Given the description of an element on the screen output the (x, y) to click on. 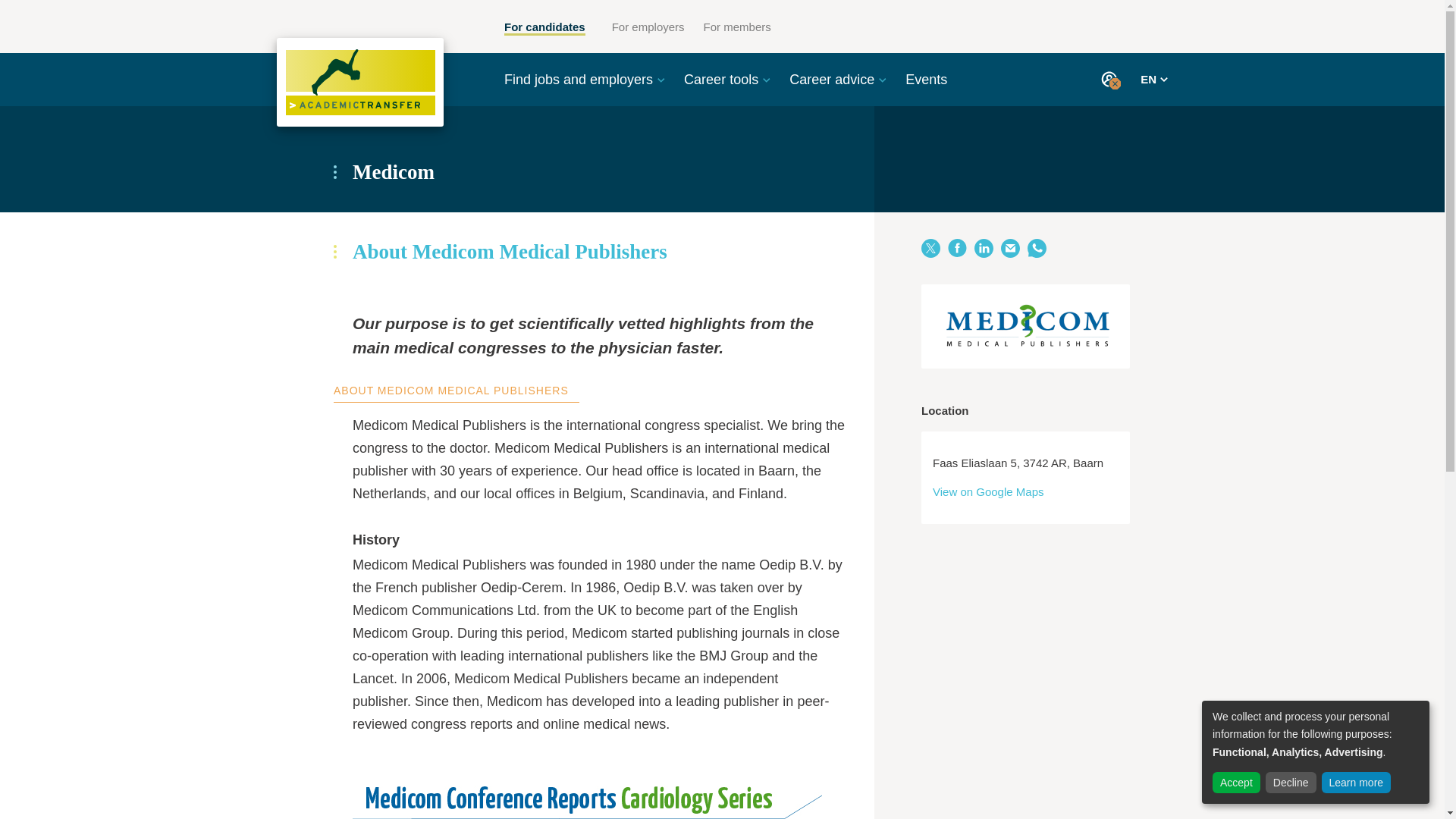
View on Google Maps (988, 491)
For candidates (544, 28)
EN (1153, 79)
For employers (647, 26)
For members (737, 26)
Events (926, 79)
